Given the description of an element on the screen output the (x, y) to click on. 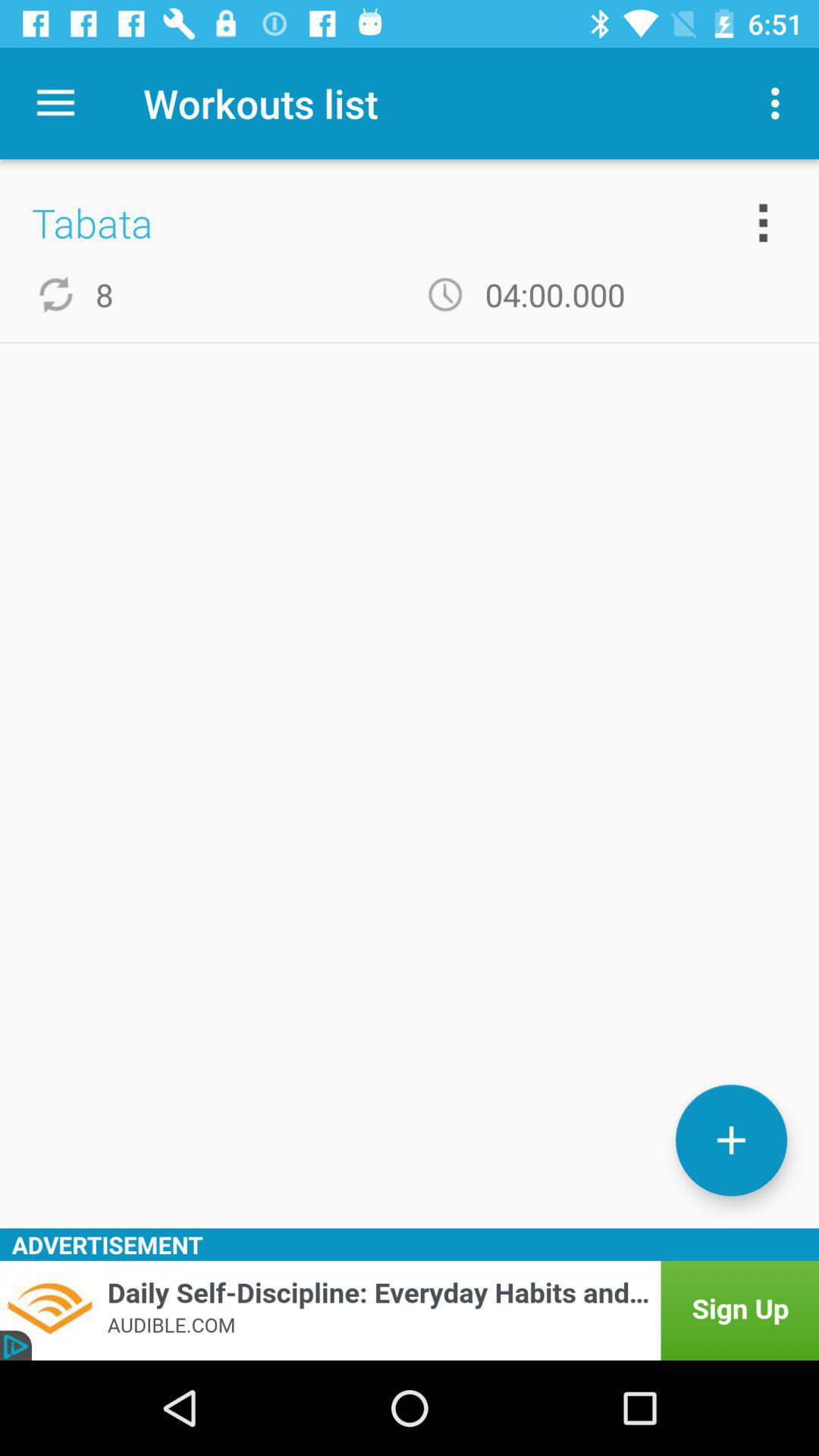
add new workout (731, 1140)
